Given the description of an element on the screen output the (x, y) to click on. 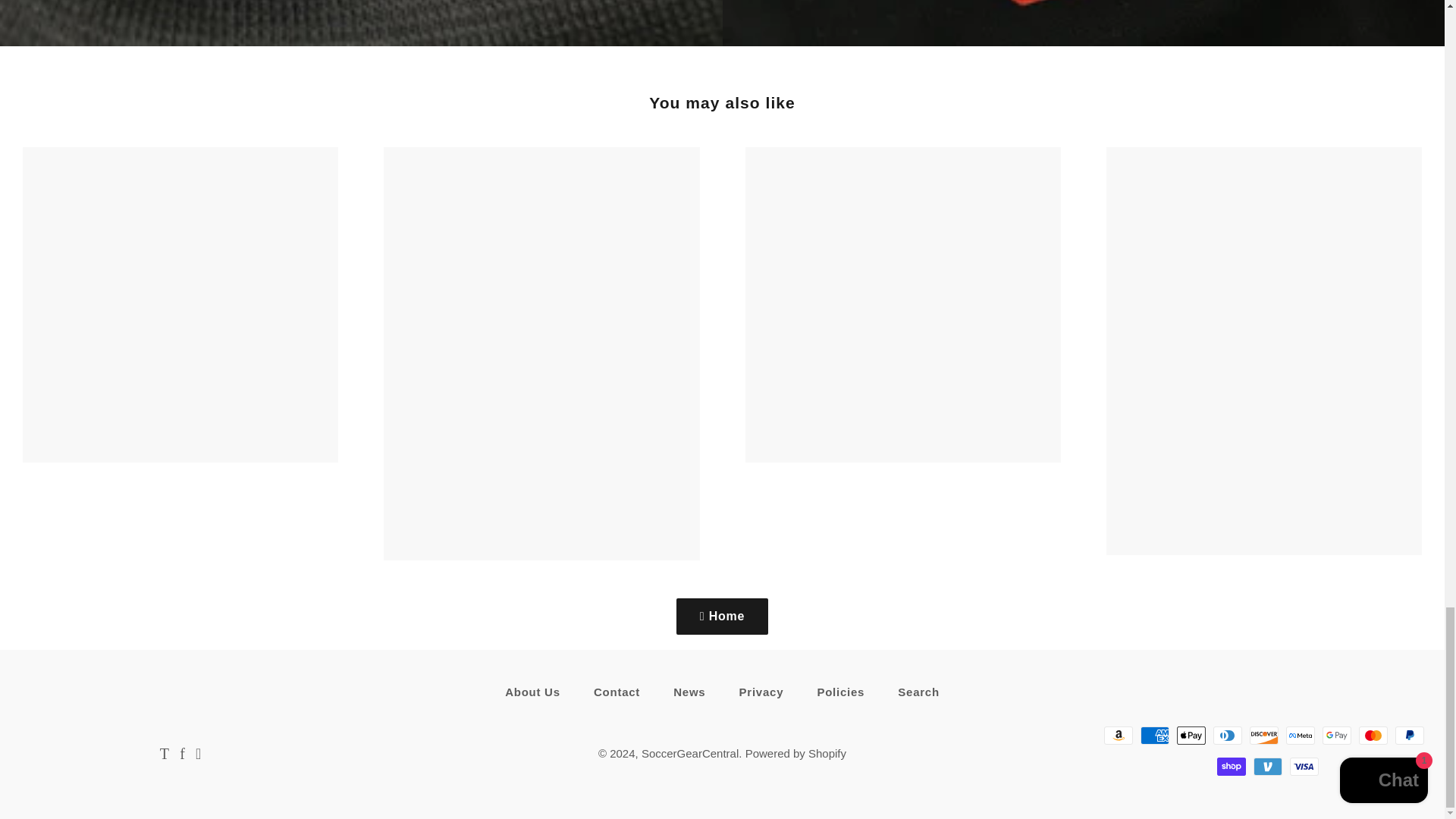
PayPal (1408, 735)
Mastercard (1372, 735)
Google Pay (1336, 735)
Visa (1304, 766)
Meta Pay (1299, 735)
Venmo (1267, 766)
Diners Club (1226, 735)
Discover (1263, 735)
American Express (1154, 735)
Amazon (1117, 735)
Apple Pay (1190, 735)
Shop Pay (1231, 766)
